Given the description of an element on the screen output the (x, y) to click on. 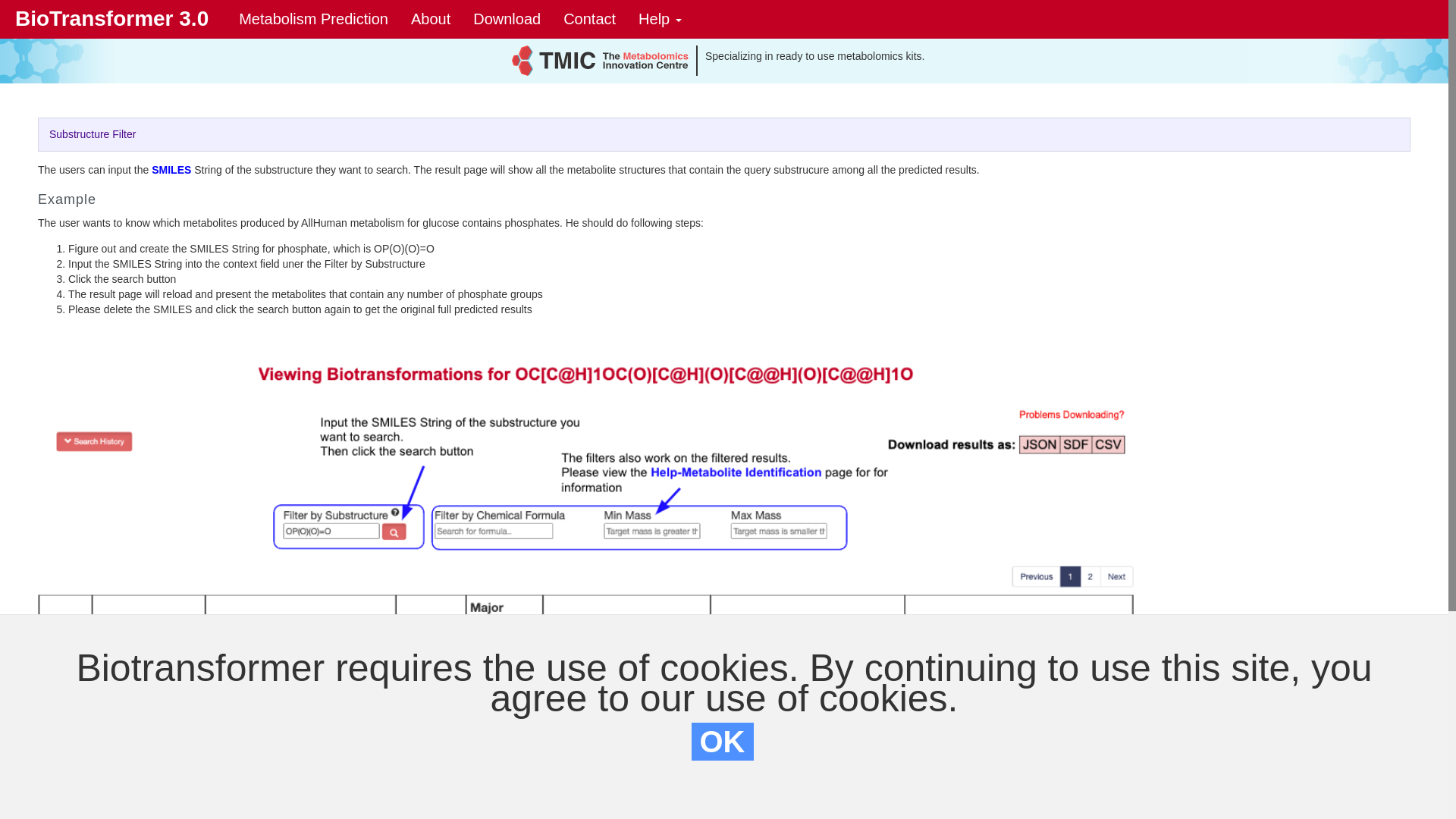
Help Element type: text (660, 18)
Download Element type: text (506, 18)
BioTransformer 3.0 Element type: text (111, 18)
Contact Element type: text (589, 18)
SMILES Element type: text (172, 169)
About Element type: text (430, 18)
OK Element type: text (722, 741)
Metabolism Prediction Element type: text (313, 18)
